Given the description of an element on the screen output the (x, y) to click on. 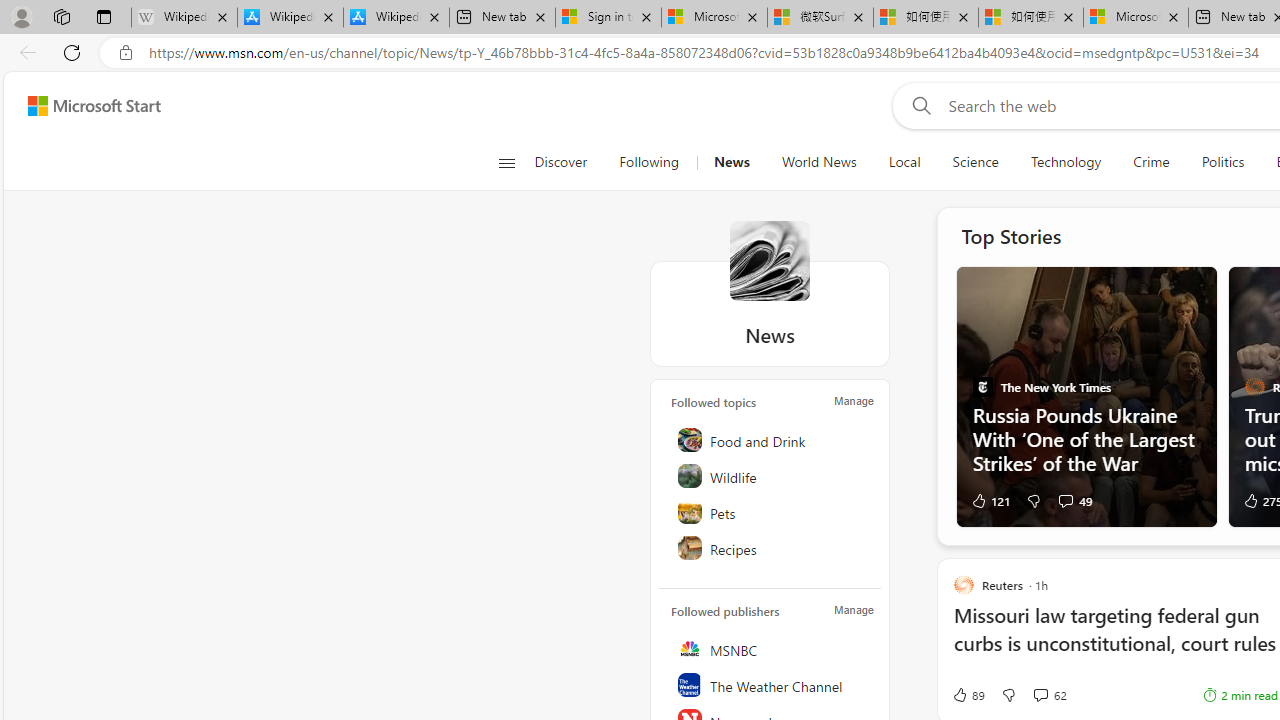
See more (1186, 296)
View comments 49 Comment (1065, 500)
New tab (502, 17)
Crime (1151, 162)
MSNBC (771, 648)
Recipes (771, 547)
Following (648, 162)
View comments 62 Comment (1049, 695)
Manage (854, 610)
Politics (1222, 162)
Personal Profile (21, 16)
Science (975, 162)
Workspaces (61, 16)
